Given the description of an element on the screen output the (x, y) to click on. 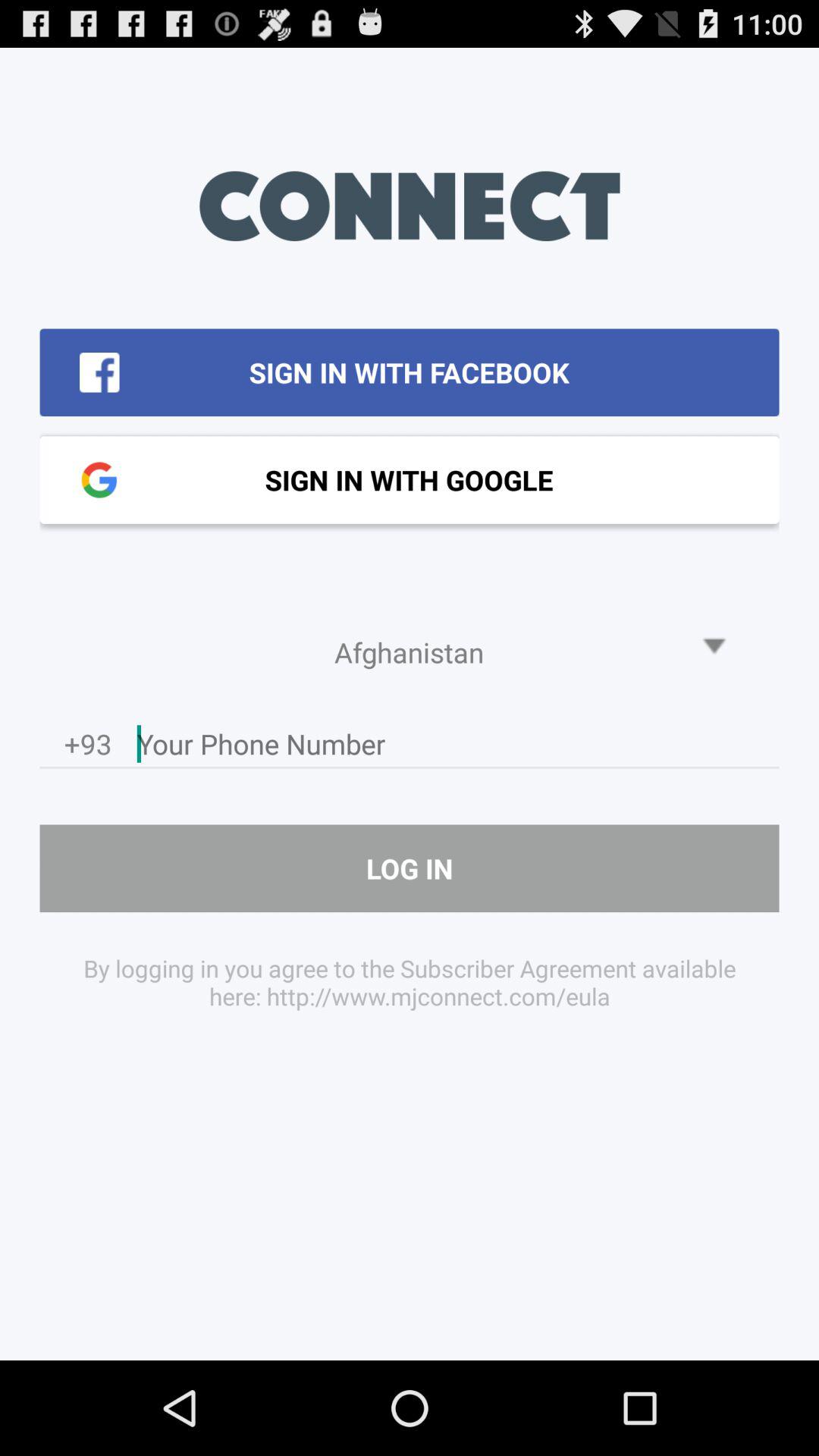
tap the icon on the left (88, 747)
